Given the description of an element on the screen output the (x, y) to click on. 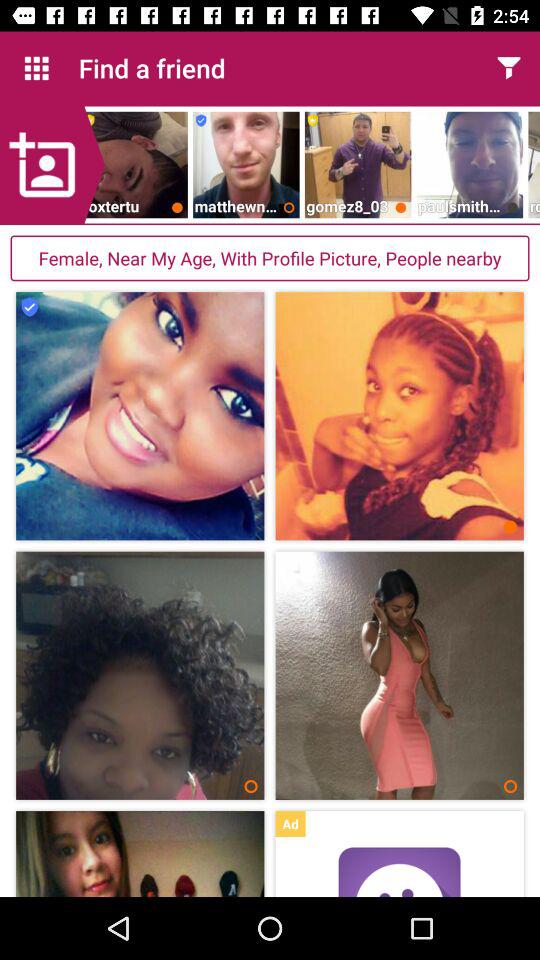
in app advertisement (399, 872)
